Given the description of an element on the screen output the (x, y) to click on. 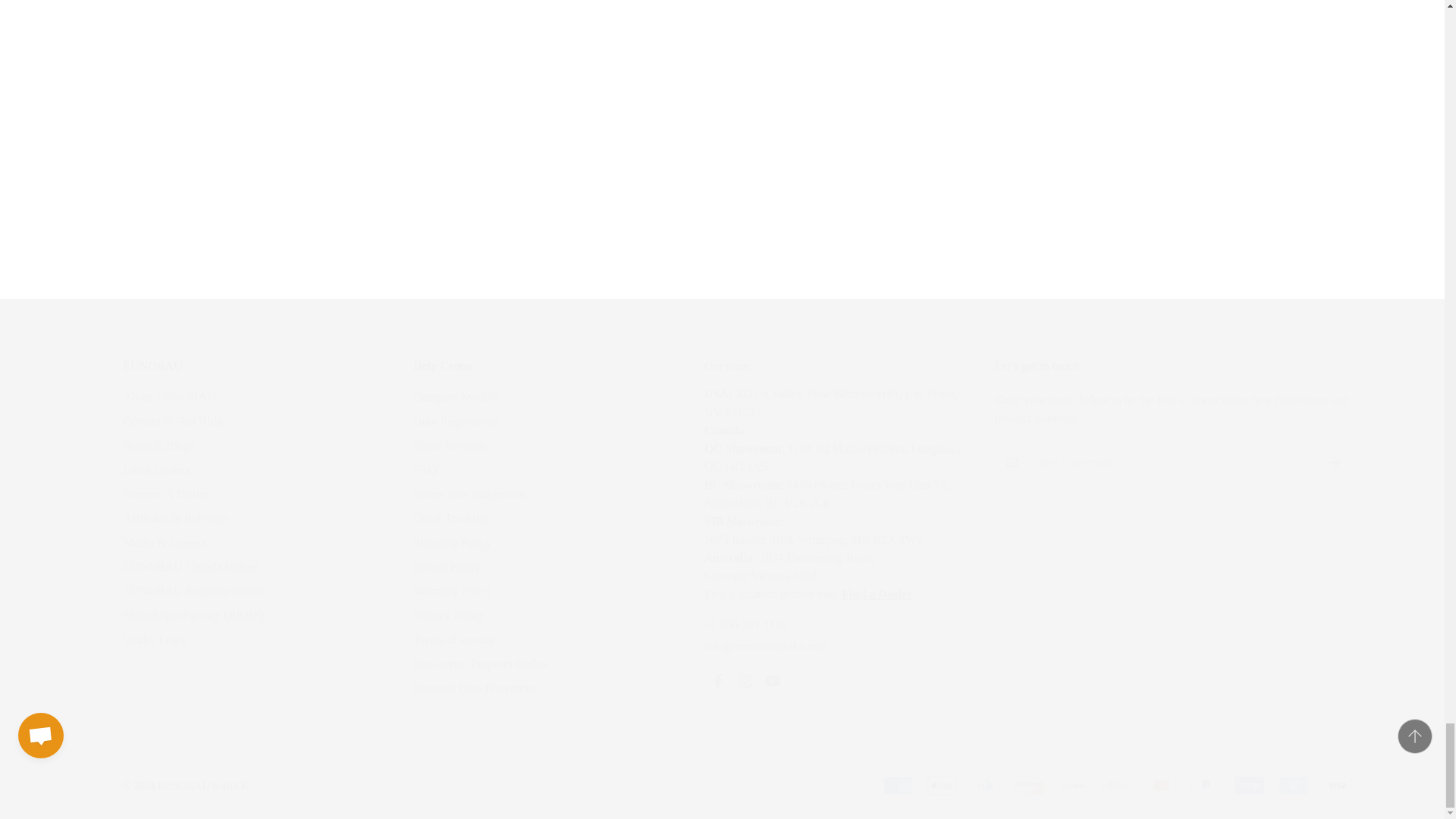
What's the Role of Torque in E-Bikes? (430, 17)
Top 5 Features to Look for When Buying a Eunorau E-Bike (644, 17)
What's a Dual Battery eBike? (430, 140)
Dealers (876, 594)
